Given the description of an element on the screen output the (x, y) to click on. 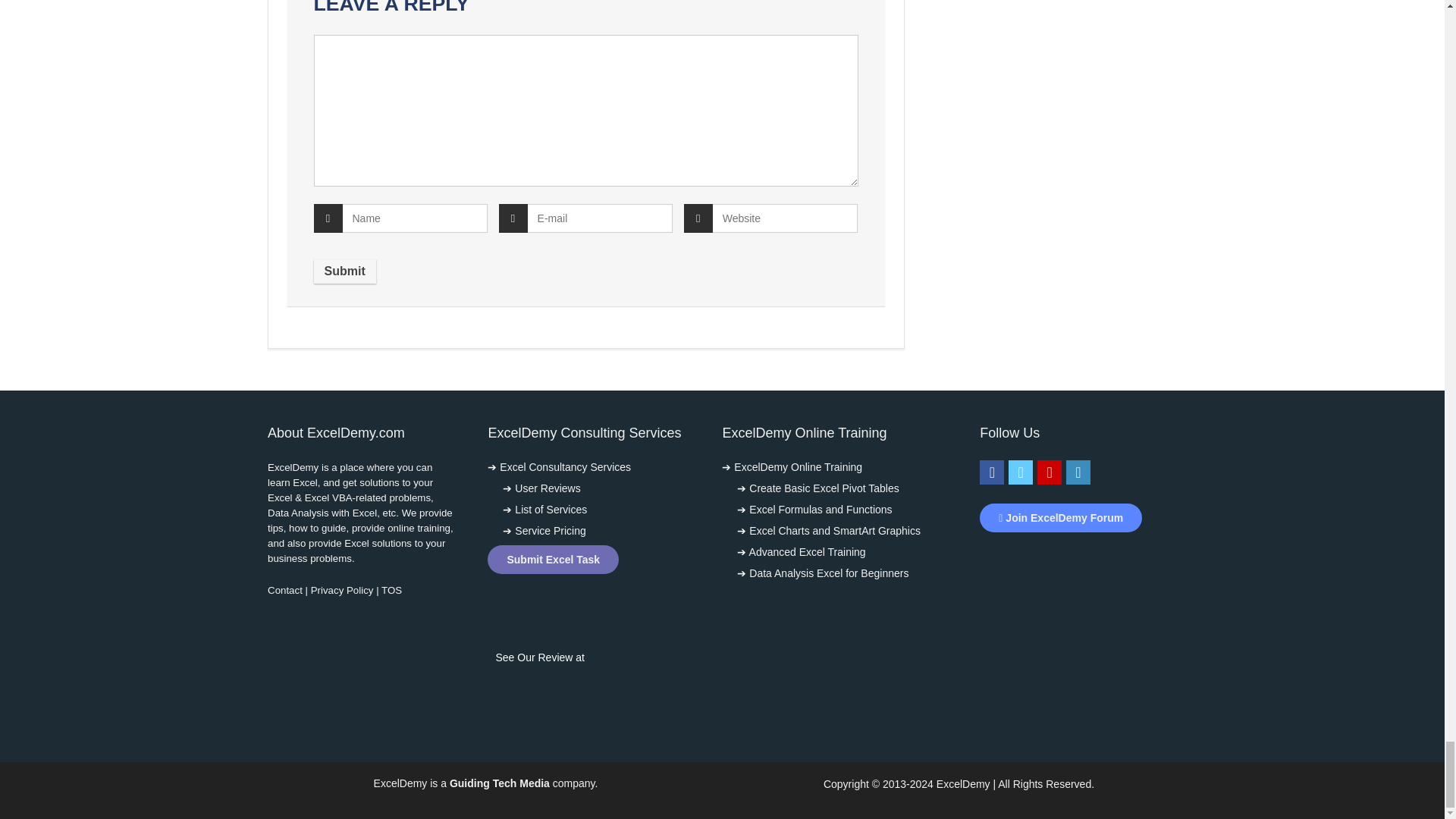
Submit (344, 271)
DMCA.com Protection Status (1073, 558)
